Given the description of an element on the screen output the (x, y) to click on. 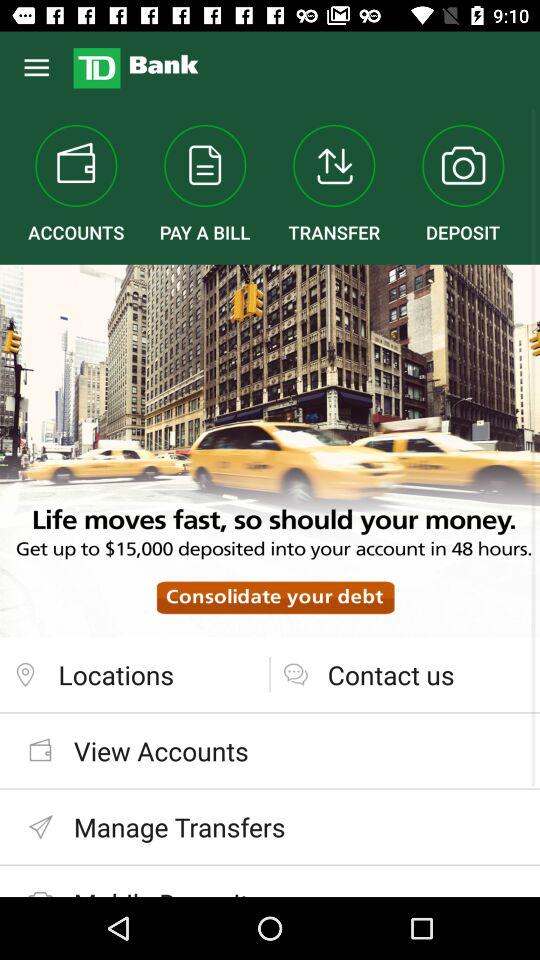
launch the contact us at the bottom right corner (405, 674)
